Given the description of an element on the screen output the (x, y) to click on. 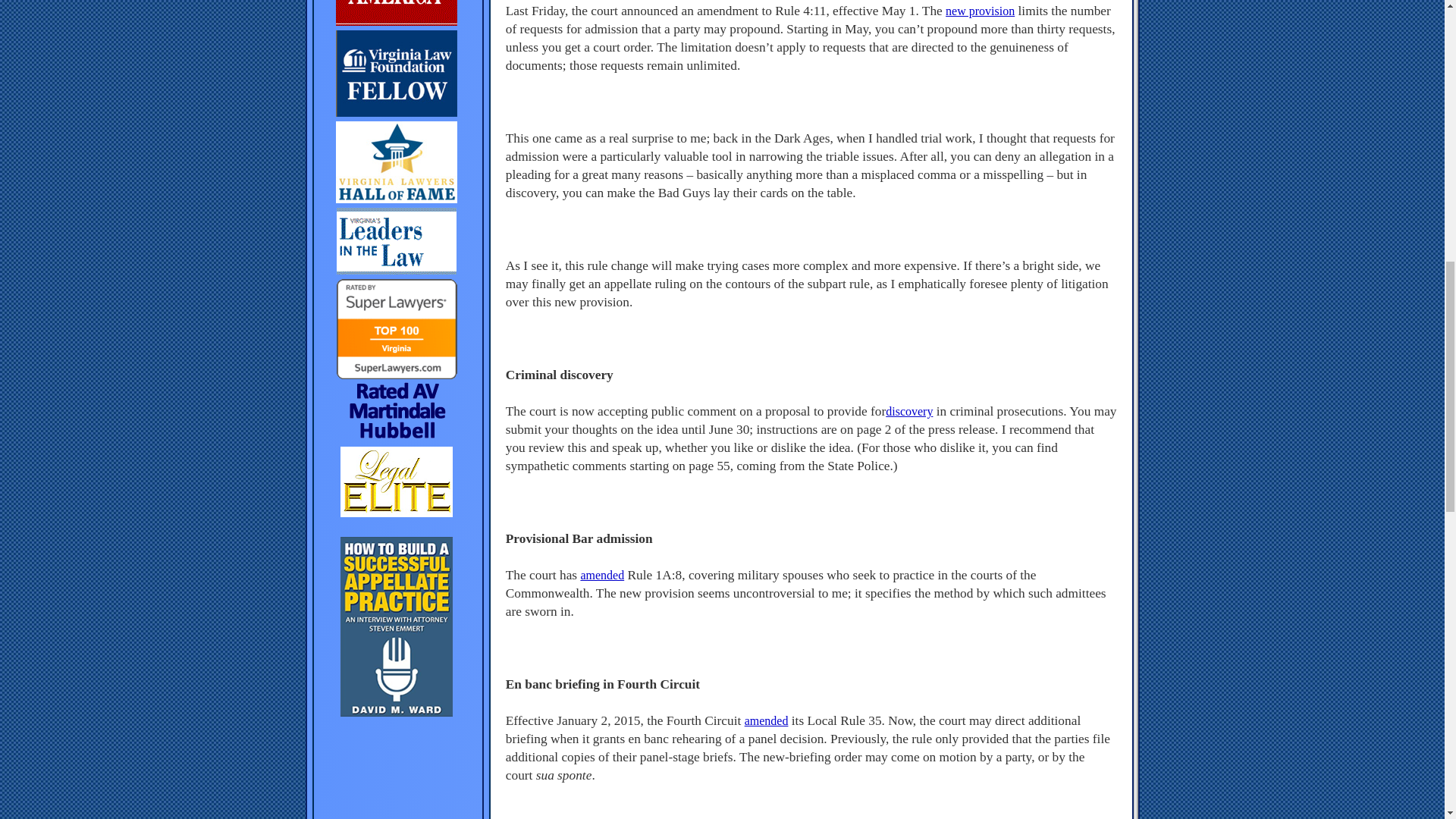
amended (766, 720)
new provision (979, 10)
discovery (909, 410)
amended (601, 574)
